Given the description of an element on the screen output the (x, y) to click on. 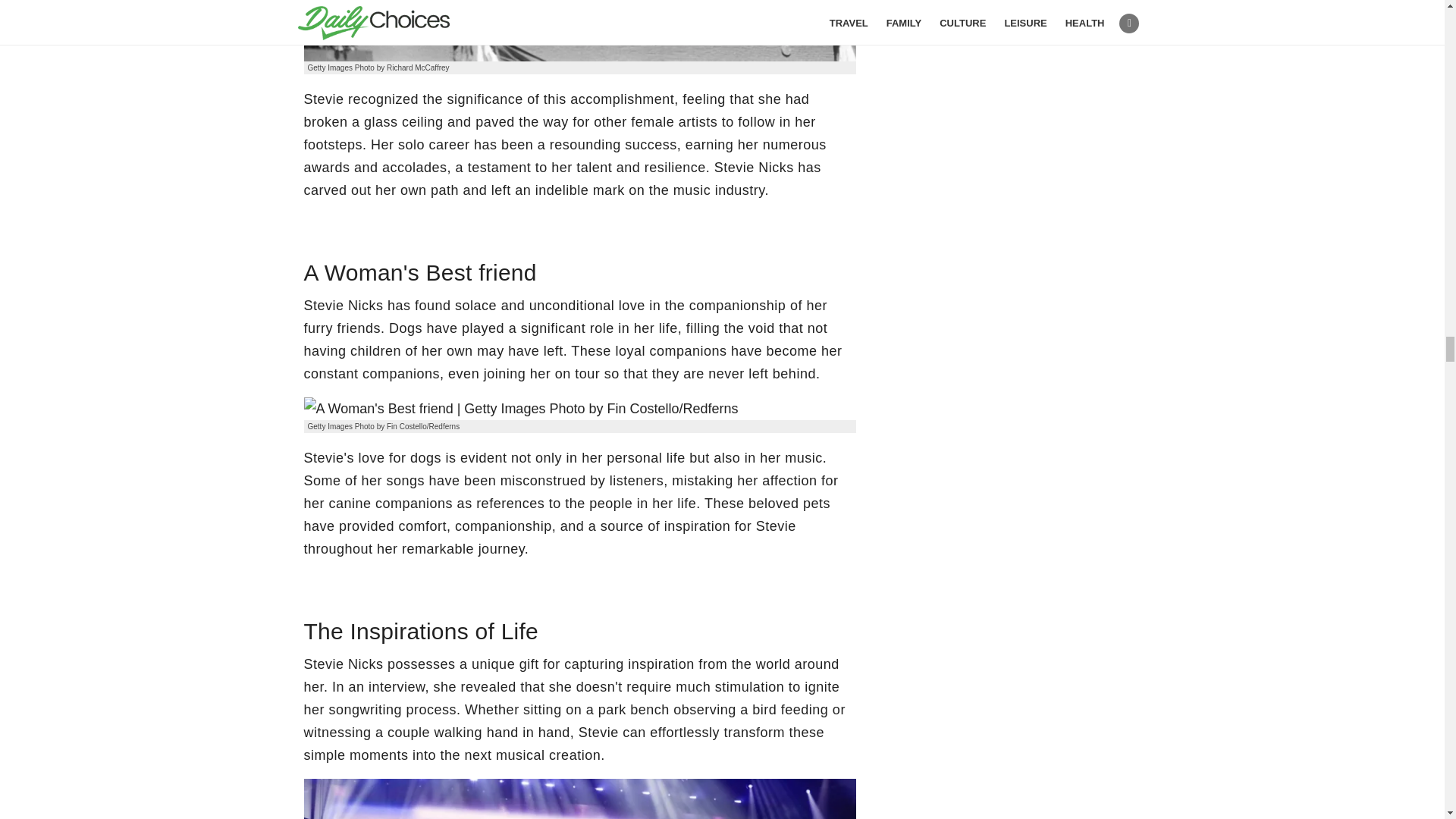
The Inspirations of Life (579, 798)
A Woman's Best friend (520, 408)
Stevie's Time in The Hall of Fame (579, 30)
